Given the description of an element on the screen output the (x, y) to click on. 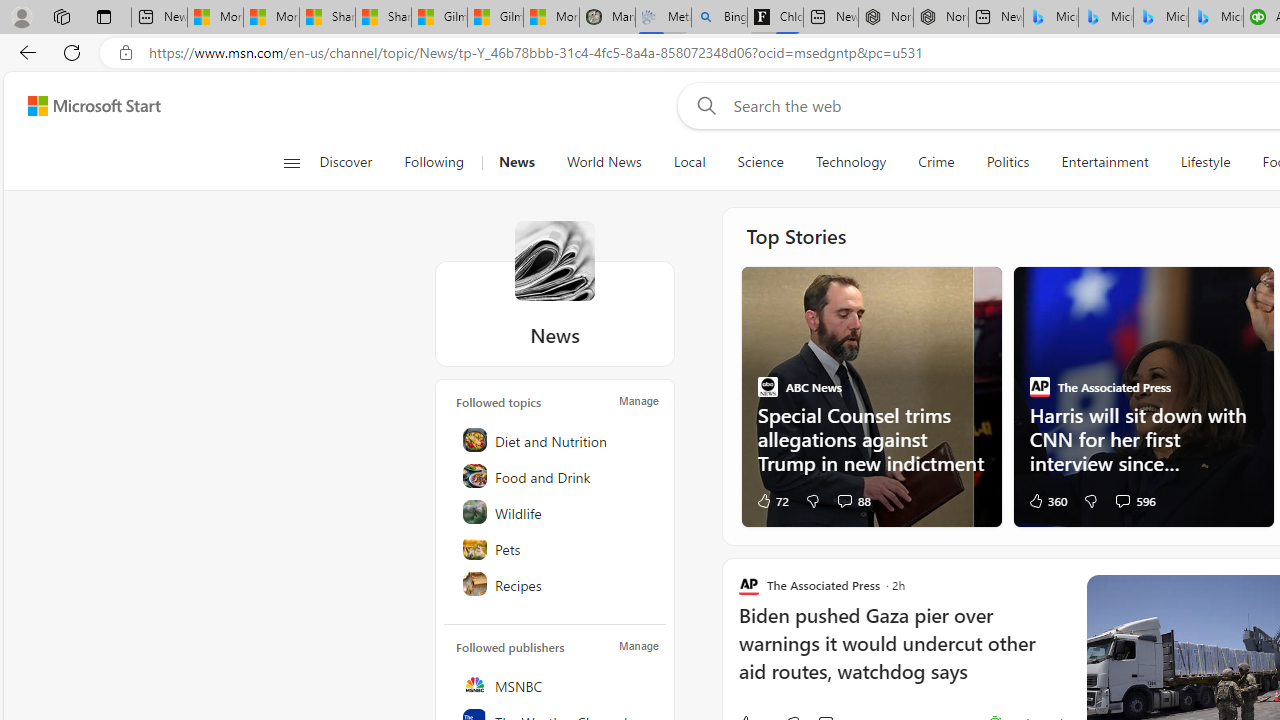
View comments 88 Comment (843, 500)
News (516, 162)
View comments 596 Comment (1122, 500)
World News (603, 162)
Food and Drink (556, 475)
Crime (935, 162)
Web search (702, 105)
360 Like (1046, 500)
Science (760, 162)
Pets (556, 547)
